Given the description of an element on the screen output the (x, y) to click on. 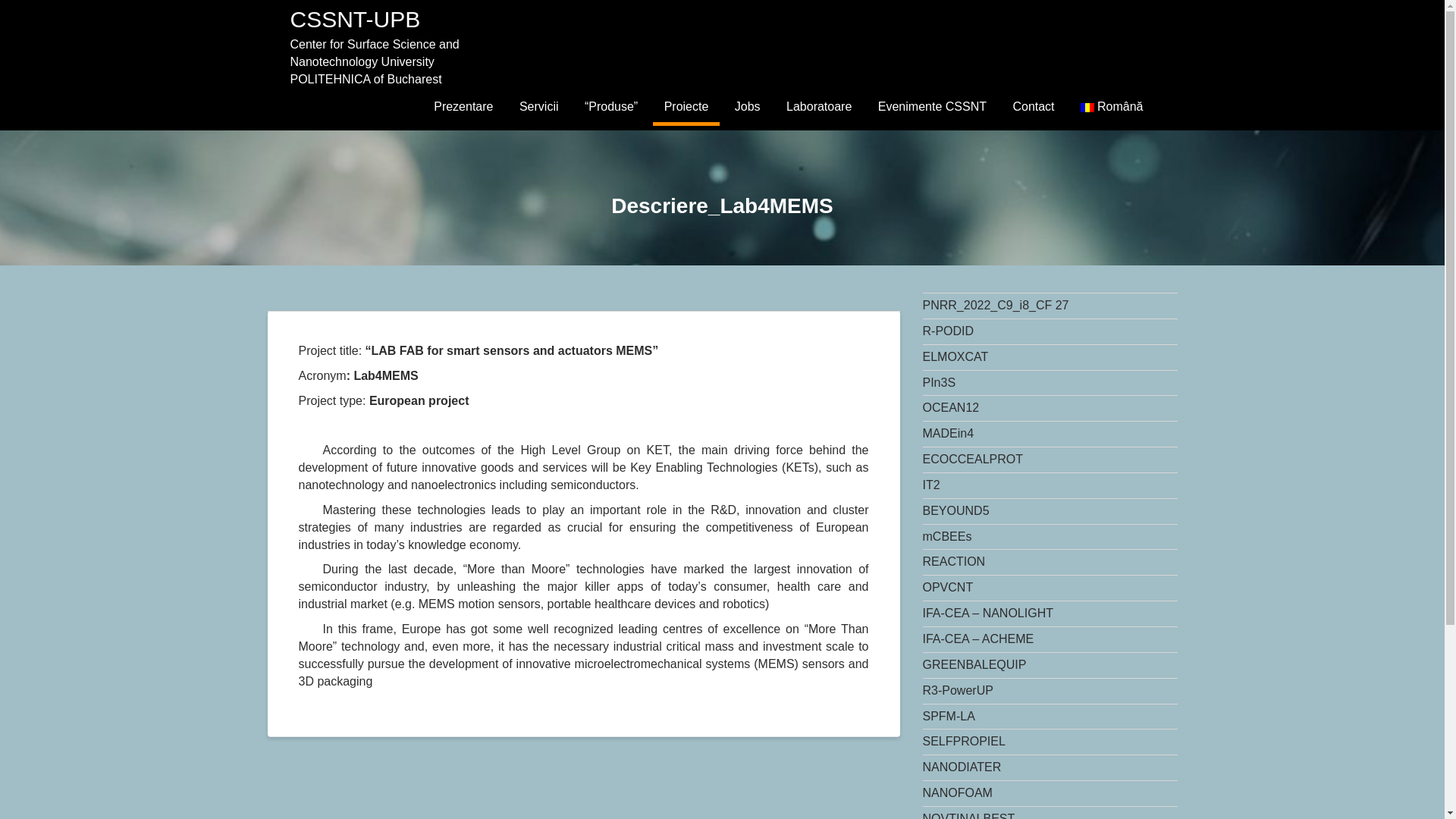
Proiecte (686, 106)
CSSNT-UPB (354, 18)
CSSNT-UPB (354, 18)
Servicii (539, 106)
Prezentare (462, 106)
